Given the description of an element on the screen output the (x, y) to click on. 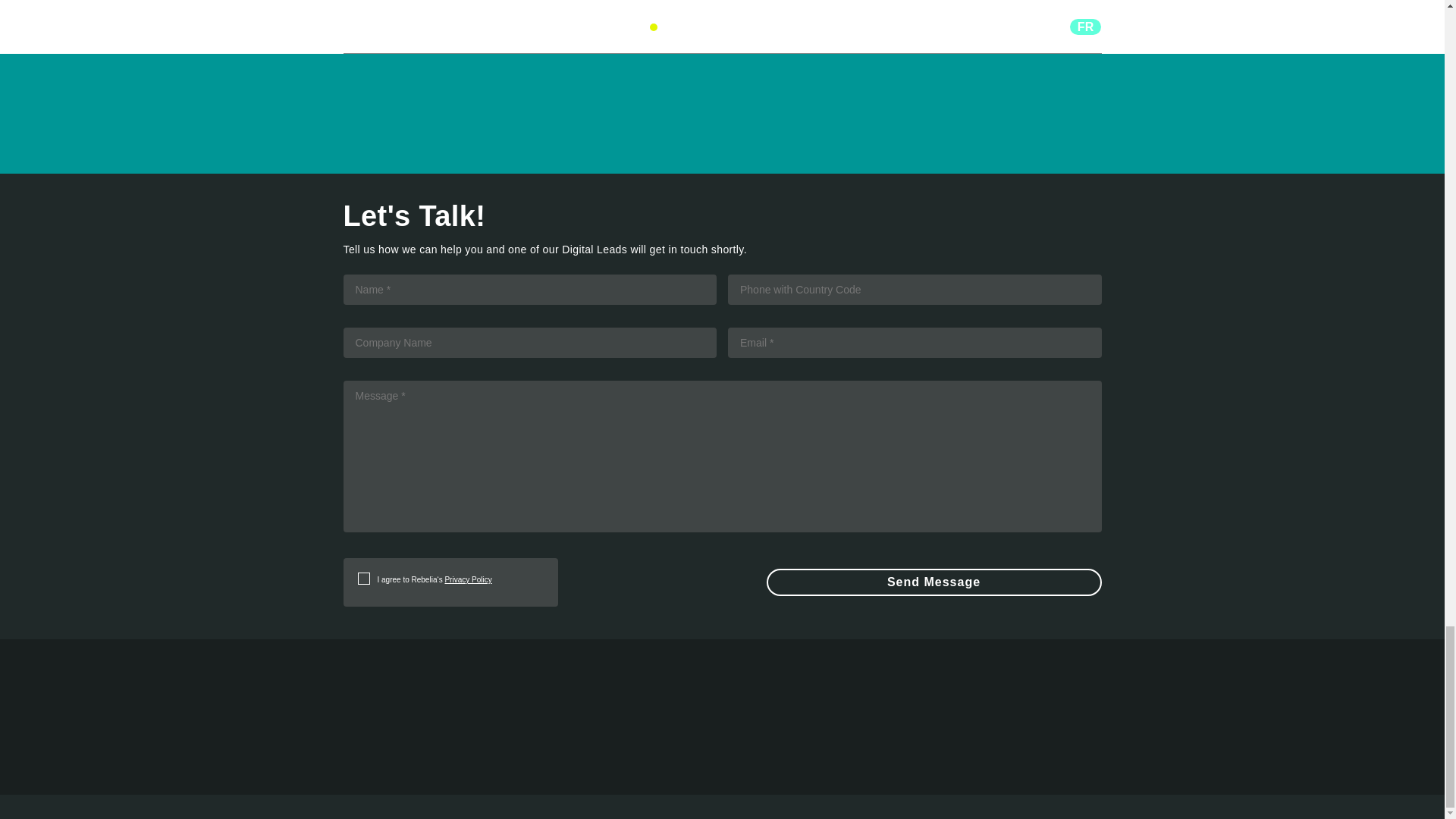
Privacy Policy (468, 579)
Send Message (932, 582)
